Given the description of an element on the screen output the (x, y) to click on. 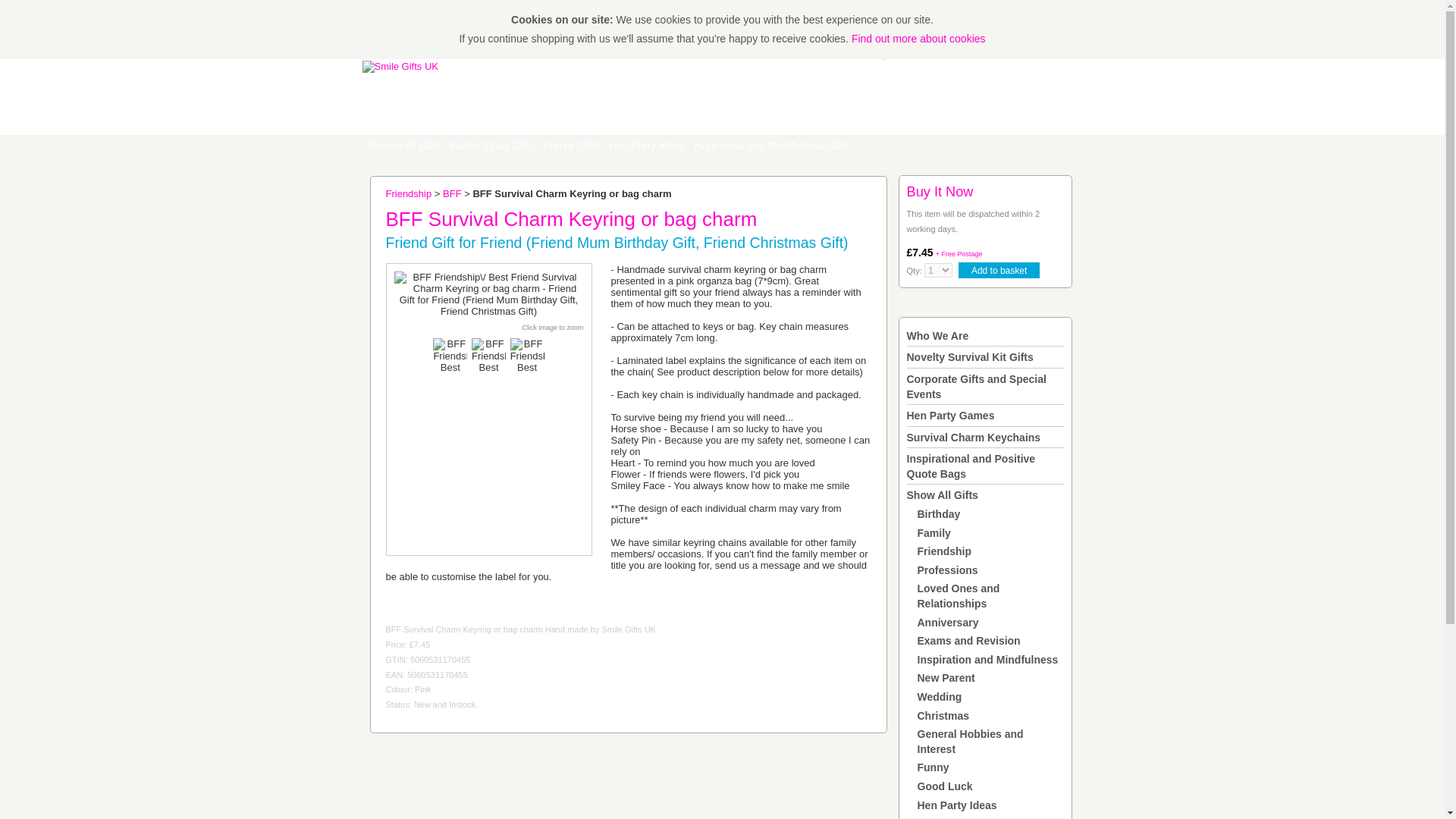
Friendship (407, 193)
Who We Are (938, 336)
Novelty Survival Kit Gifts (970, 357)
Family Gifts (571, 145)
Hen Party Games (950, 415)
Click image to zoom (552, 327)
Add to basket (998, 270)
Find out more about cookies (918, 38)
Show All Gifts (942, 494)
Add to basket (998, 270)
BFF (451, 193)
Father's Day Gifts (492, 145)
Hen Party Ideas (646, 145)
Survival Charm Keychains (974, 437)
Browse All Gifts (403, 145)
